Given the description of an element on the screen output the (x, y) to click on. 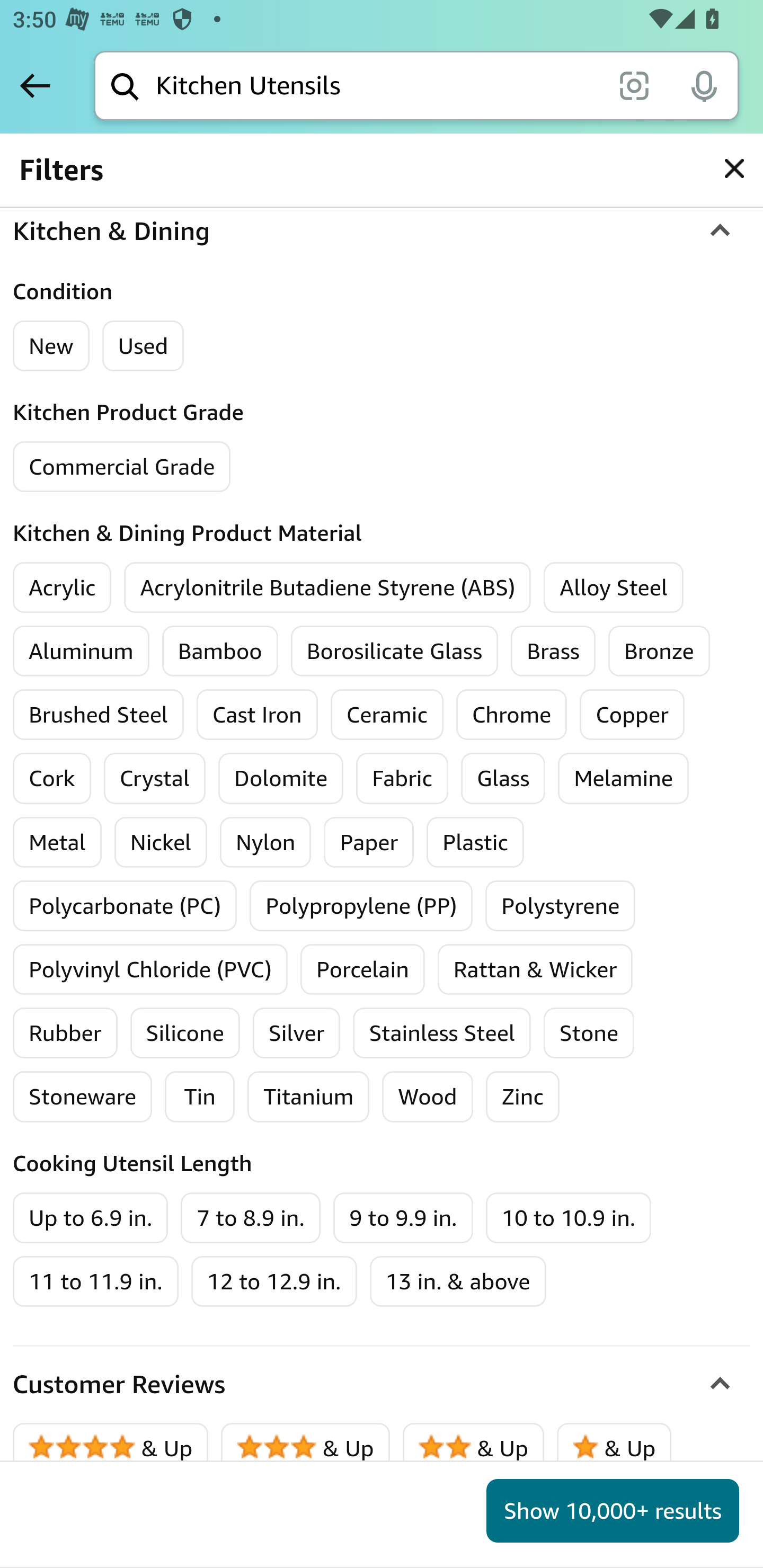
Back (35, 85)
scan it (633, 85)
Kitchen & Dining (381, 230)
New (51, 345)
Used (142, 345)
Commercial Grade (121, 466)
Acrylic (62, 587)
Acrylonitrile Butadiene Styrene (ABS) (327, 587)
Alloy Steel (613, 587)
Aluminum (80, 650)
Bamboo (219, 650)
Borosilicate Glass (394, 650)
Brass (552, 650)
Bronze (658, 650)
Brushed Steel (98, 714)
Cast Iron (256, 714)
Ceramic (385, 714)
